Given the description of an element on the screen output the (x, y) to click on. 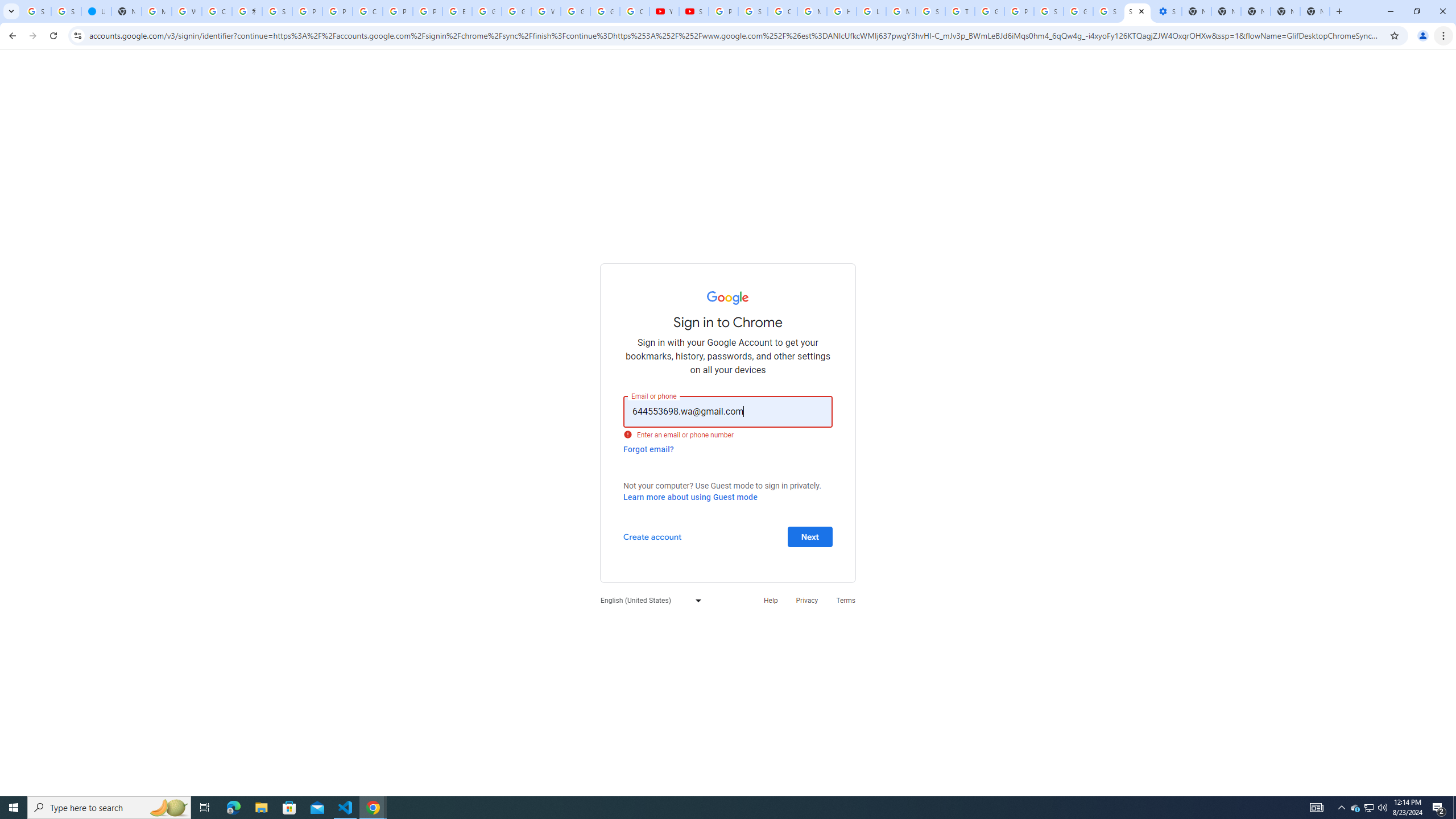
Google Cybersecurity Innovations - Google Safety Center (1077, 11)
Google Ads - Sign in (989, 11)
Google Slides: Sign-in (486, 11)
Sign in - Google Accounts (1048, 11)
Email or phone (727, 411)
